Given the description of an element on the screen output the (x, y) to click on. 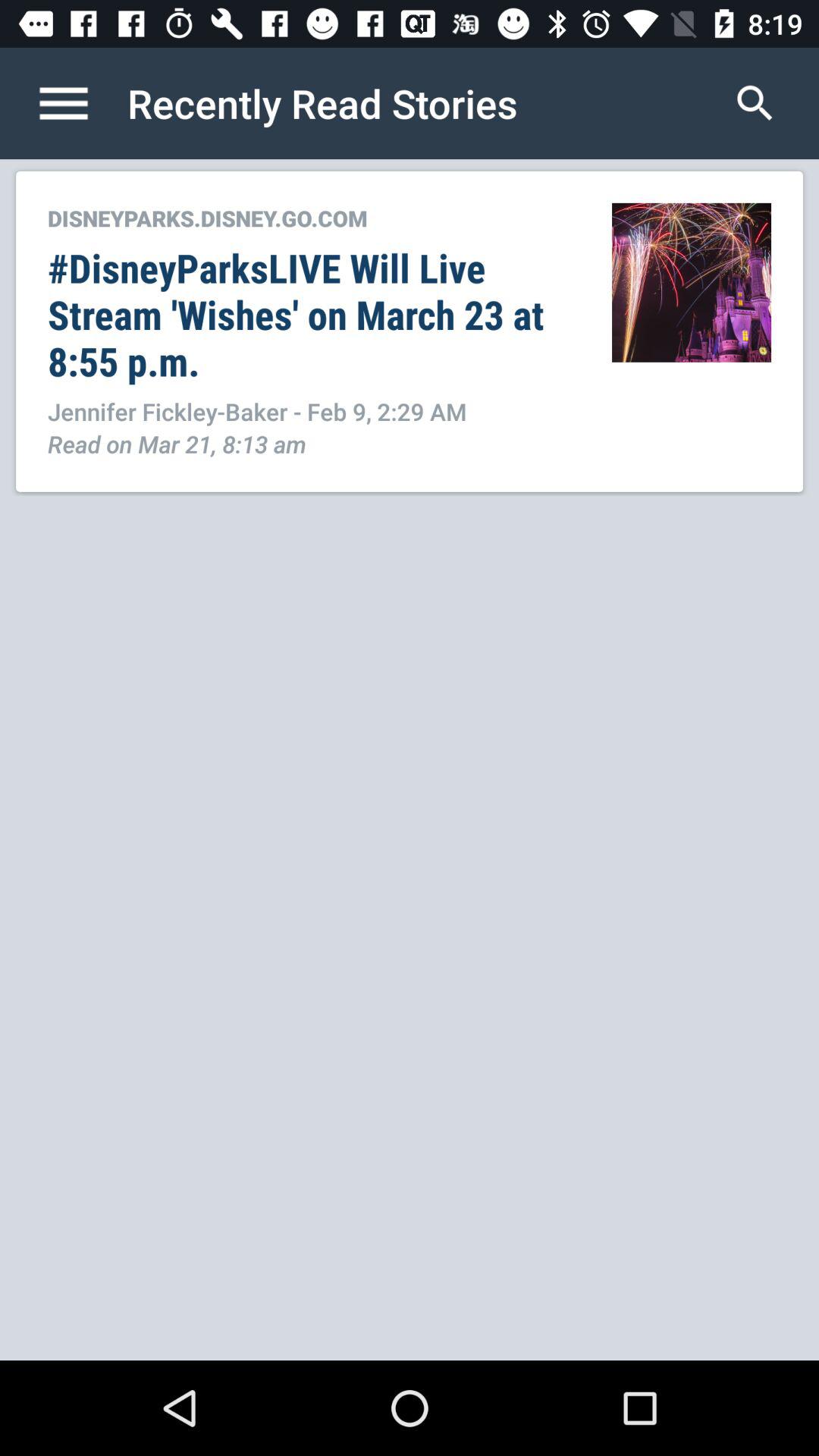
select the item to the right of recently read stories item (755, 103)
